Given the description of an element on the screen output the (x, y) to click on. 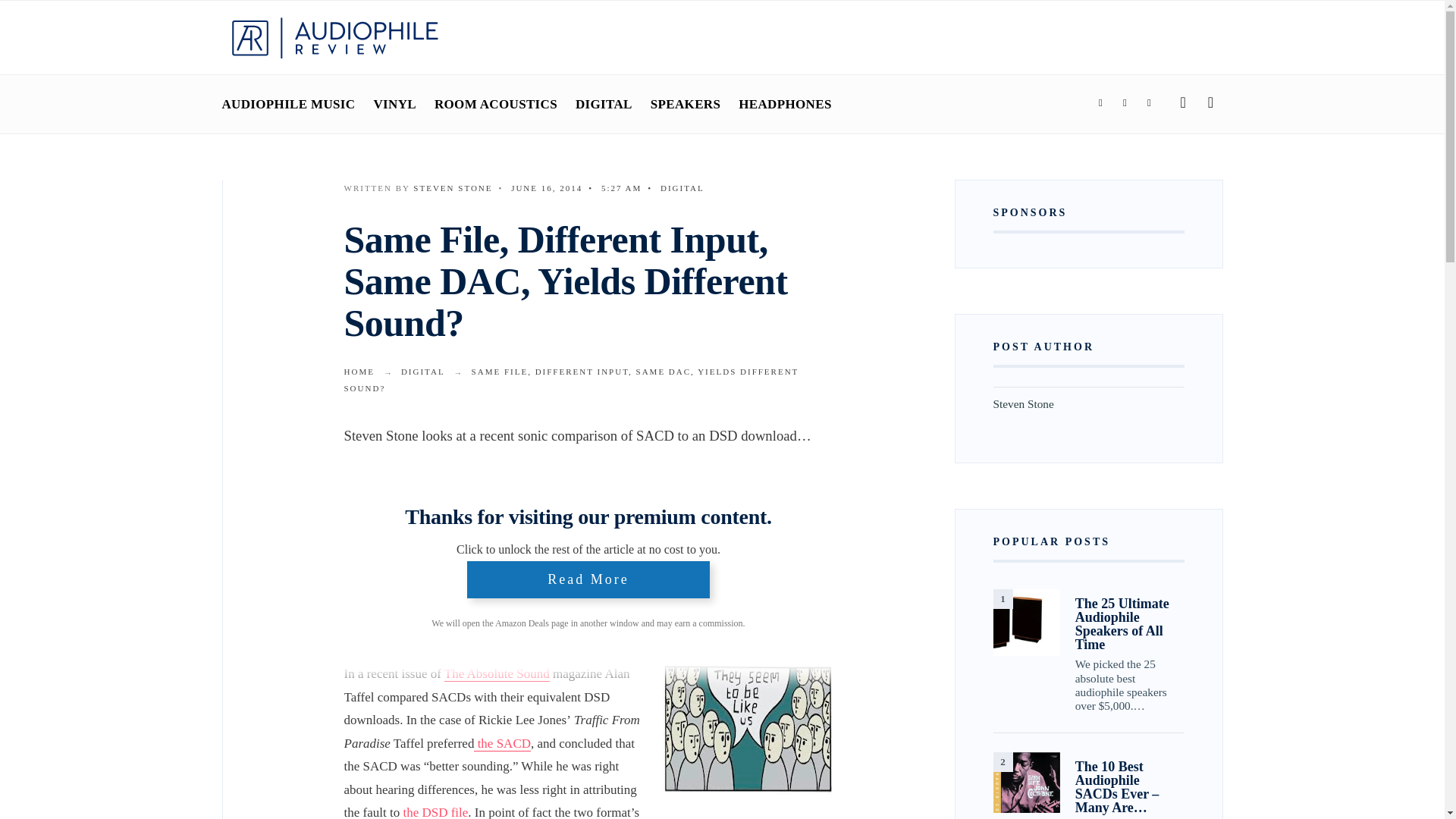
DIGITAL (423, 370)
STEVEN STONE (452, 187)
AUDIOPHILE MUSIC (288, 104)
Steven Stone (452, 187)
SPEAKERS (685, 104)
Audiophile Speakers on Sale at AudioAdvice (504, 559)
DIGITAL (603, 104)
The 25 Ultimate Audiophile Speakers of All Time (1025, 622)
VINYL (394, 104)
Read More (588, 579)
